Given the description of an element on the screen output the (x, y) to click on. 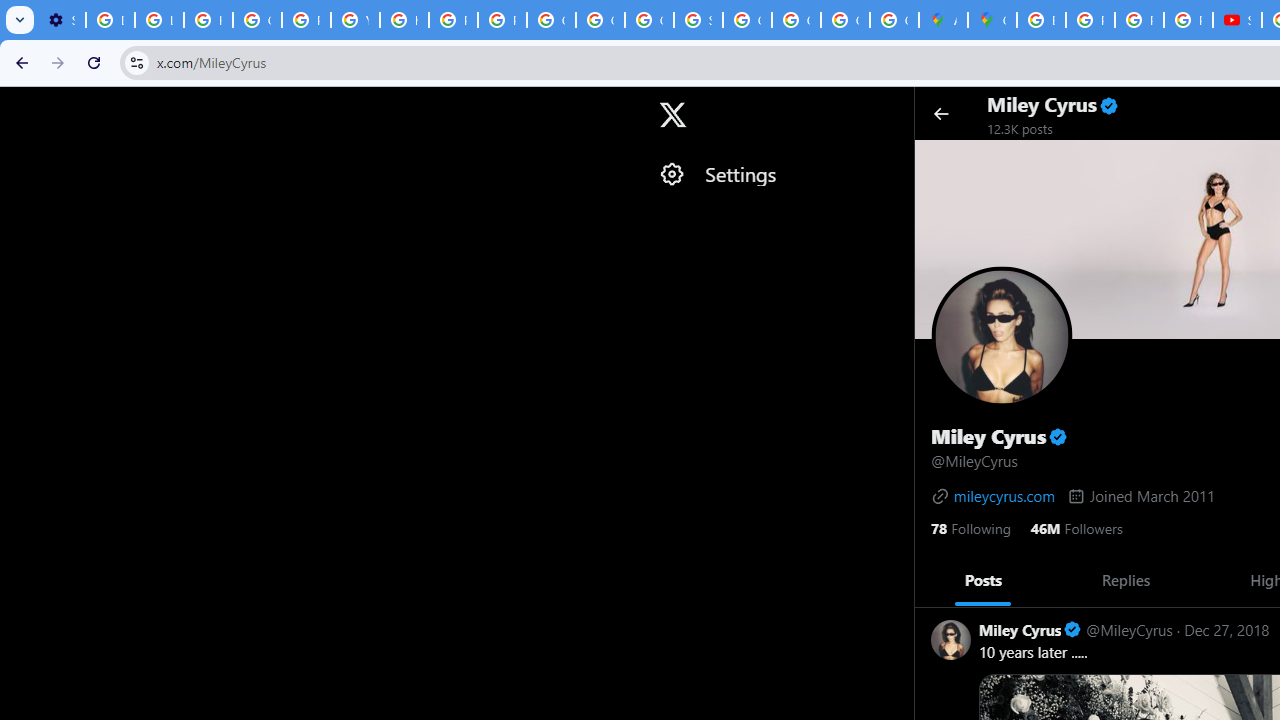
Replies (1125, 579)
Blogger Policies and Guidelines - Transparency Center (1041, 20)
Skip to home timeline (17, 105)
Privacy Help Center - Policies Help (306, 20)
46M Followers (1076, 526)
Google Maps (992, 20)
Privacy Help Center - Policies Help (1090, 20)
Posts (983, 579)
Opens profile photo (1001, 336)
Privacy Help Center - Policies Help (452, 20)
@MileyCyrus (1128, 629)
Previous (936, 580)
YouTube (355, 20)
